Given the description of an element on the screen output the (x, y) to click on. 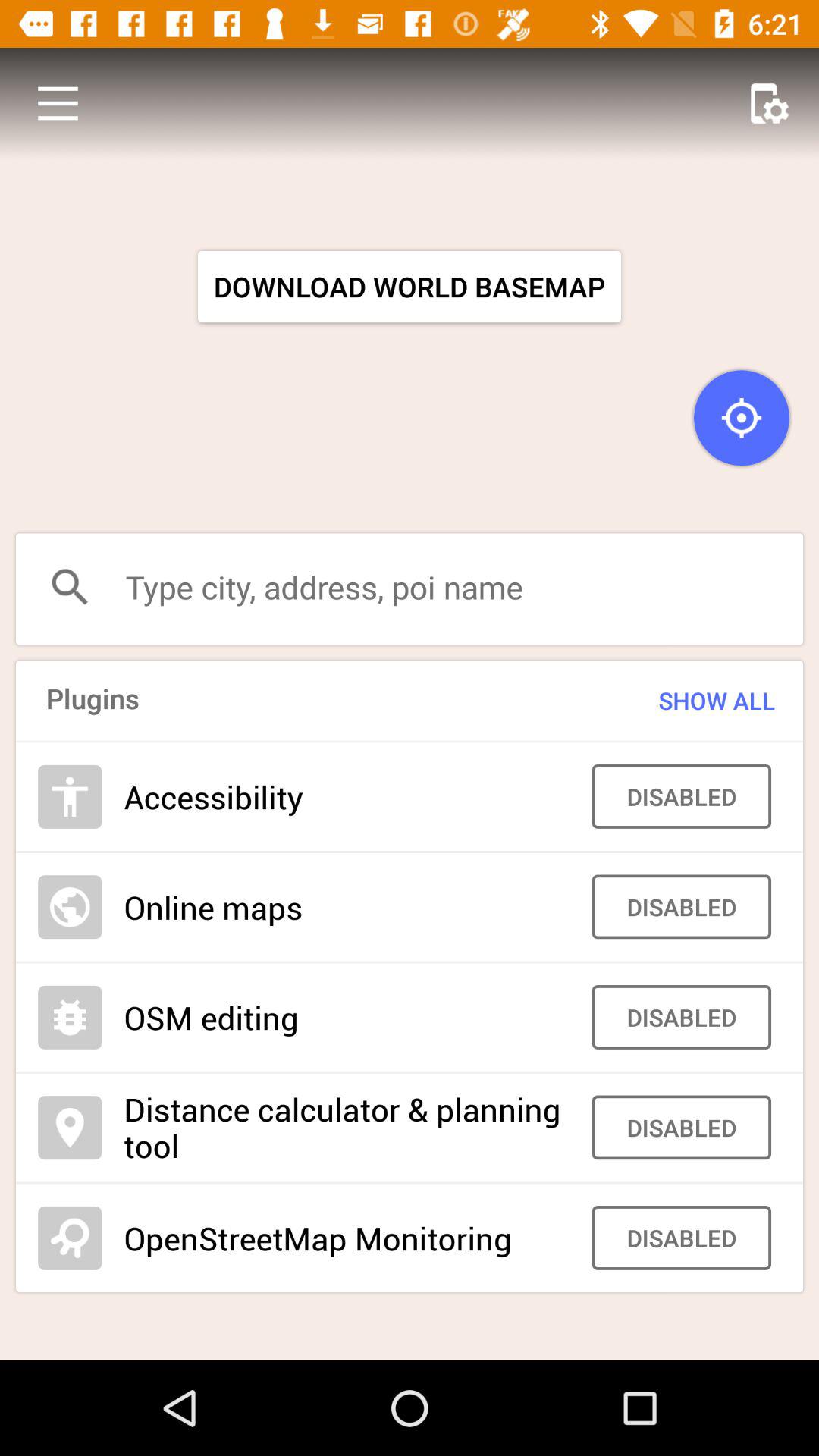
scroll until the download world basemap item (409, 286)
